Given the description of an element on the screen output the (x, y) to click on. 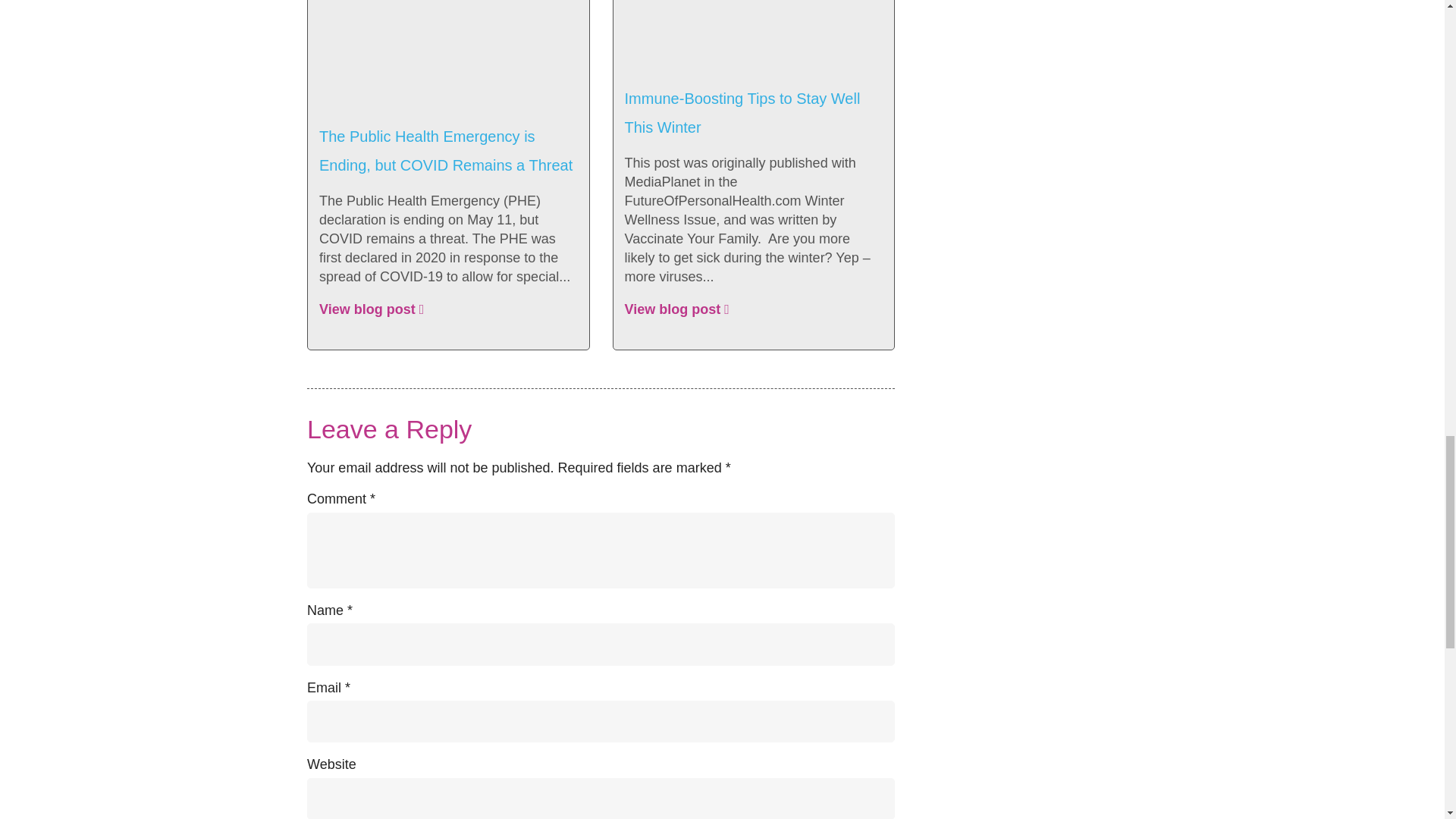
View blog post (370, 310)
View blog post (676, 310)
Immune-Boosting Tips to Stay Well This Winter (742, 112)
